Given the description of an element on the screen output the (x, y) to click on. 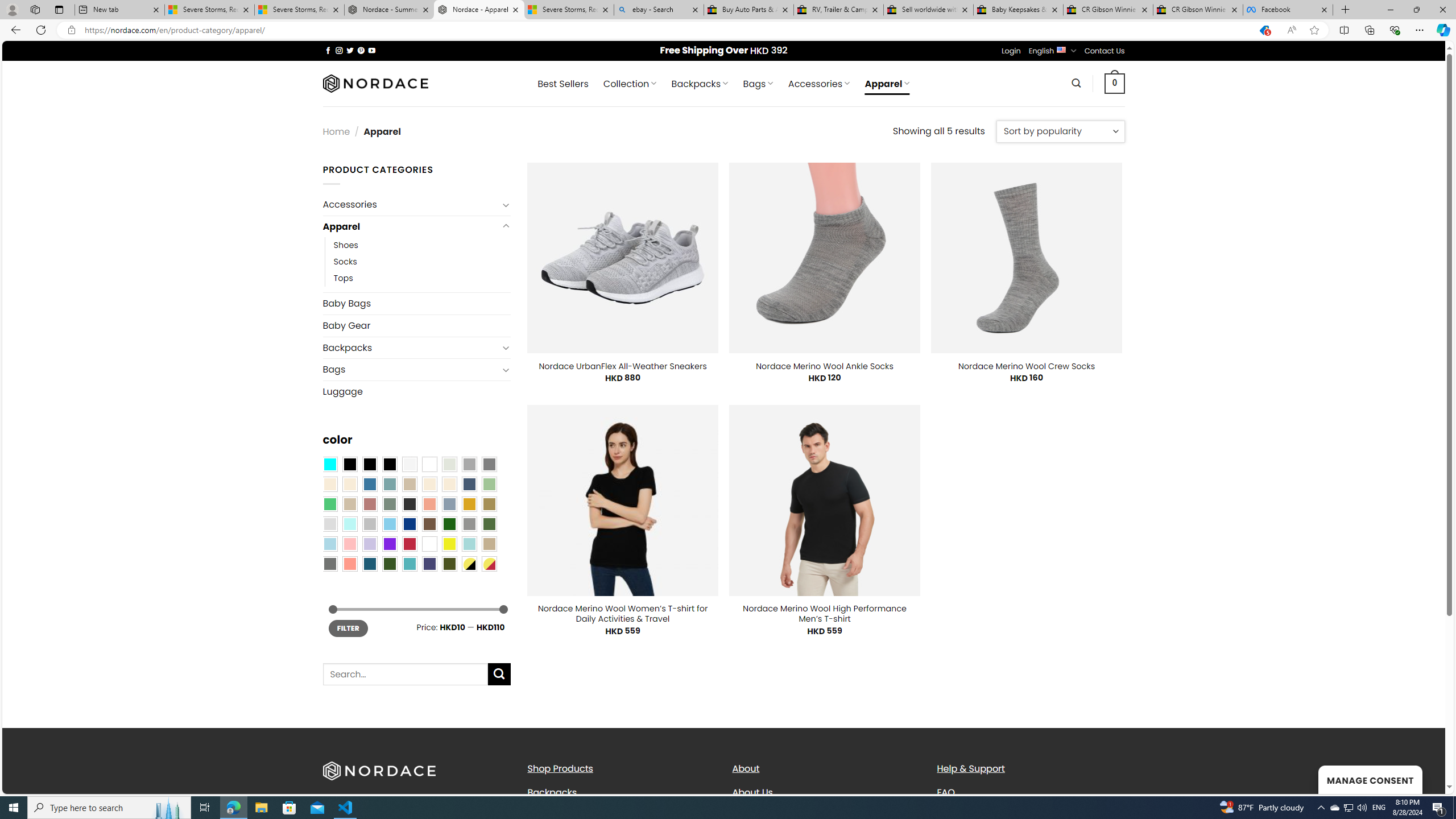
Contact Us (1104, 50)
Purple (389, 543)
Baby Gear (416, 324)
Teal (408, 563)
Light Blue (329, 543)
Shoes (422, 245)
Mint (349, 523)
Facebook (1287, 9)
Baby Bags (416, 303)
Khaki (488, 543)
Shop order (1060, 131)
